Given the description of an element on the screen output the (x, y) to click on. 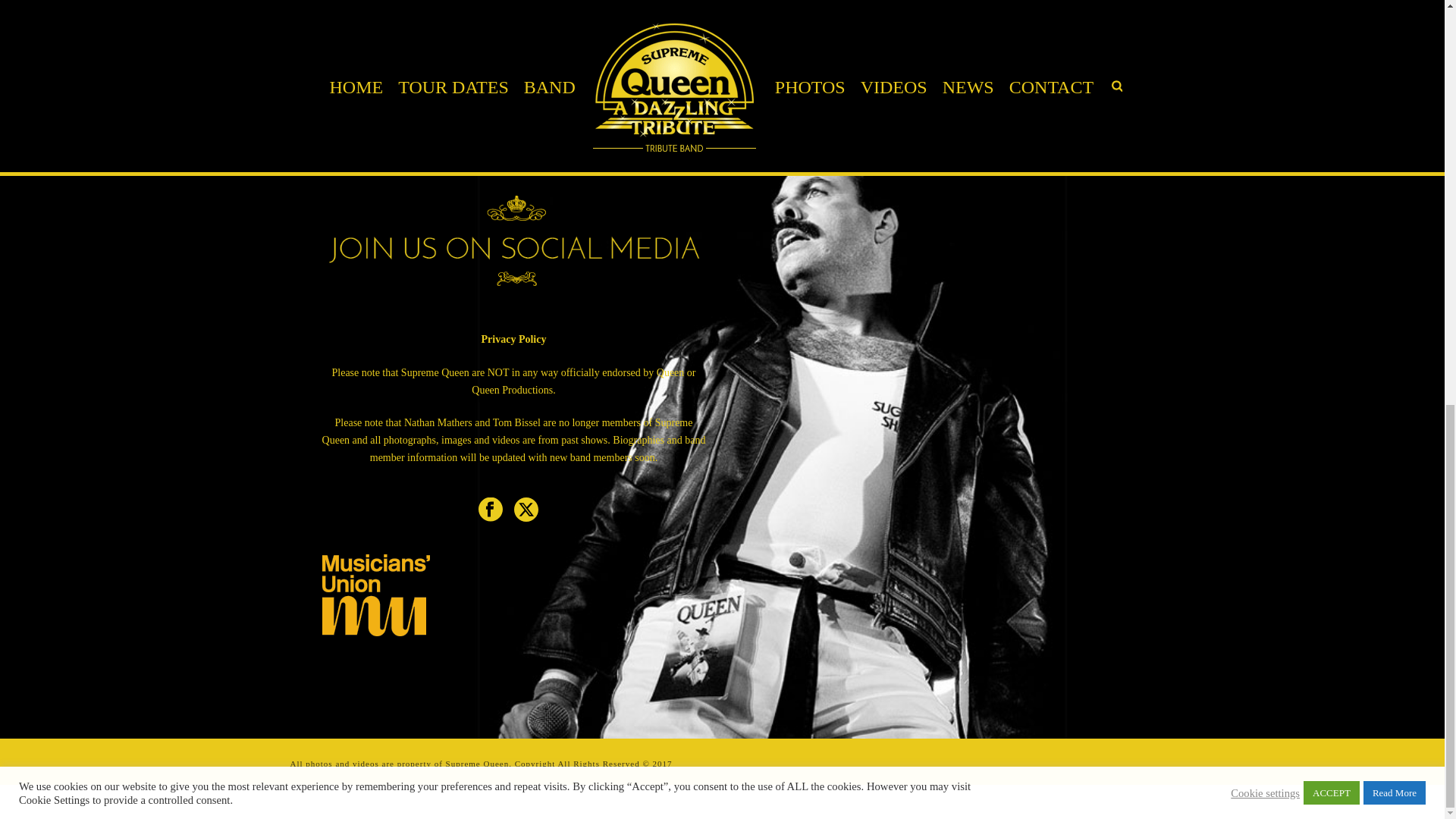
Privacy Policy (514, 338)
ACCEPT (1331, 2)
Read More (1393, 2)
Follow Us on facebook (489, 510)
Follow Us on twitter (525, 510)
